Given the description of an element on the screen output the (x, y) to click on. 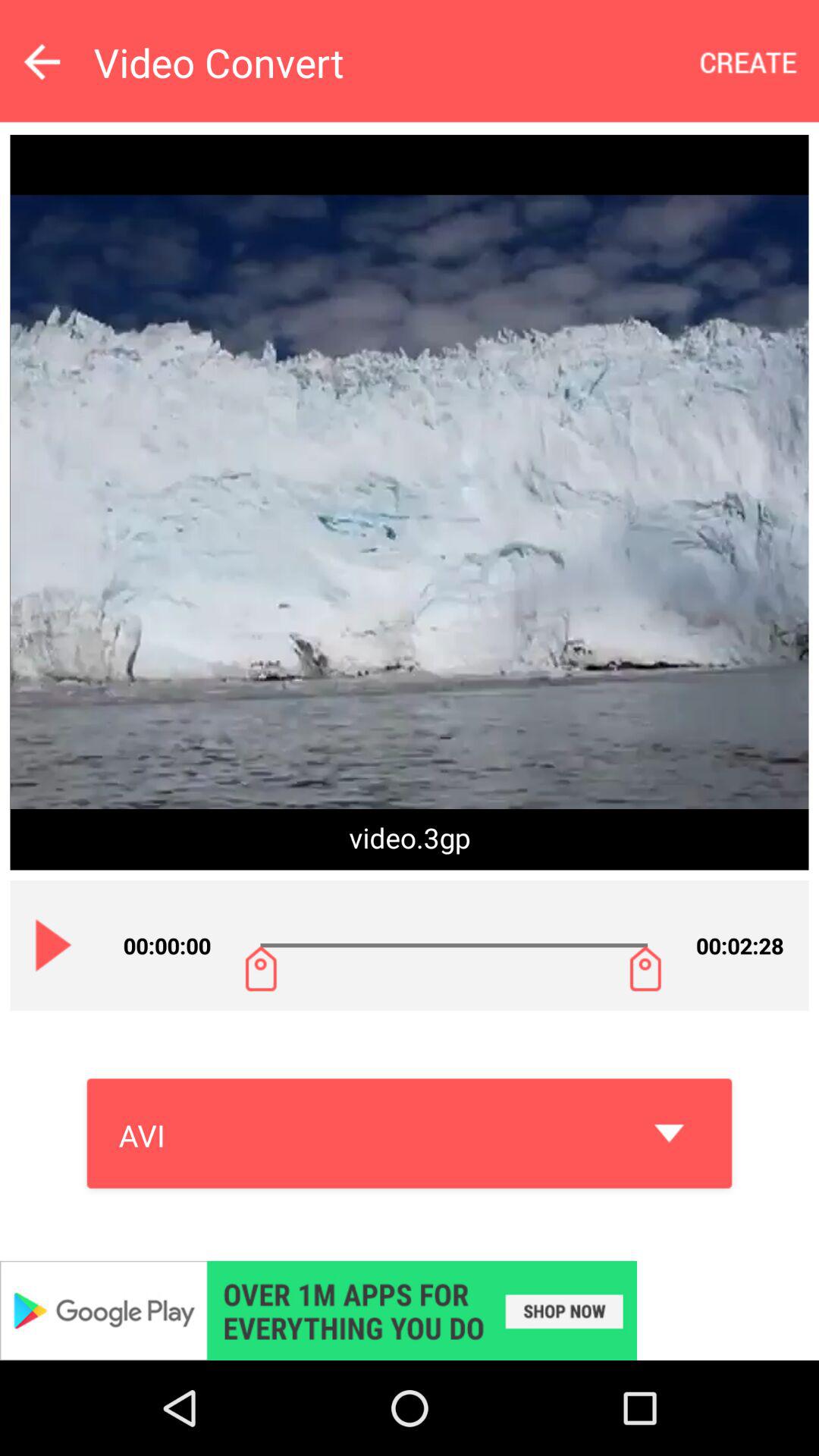
play video (54, 945)
